Given the description of an element on the screen output the (x, y) to click on. 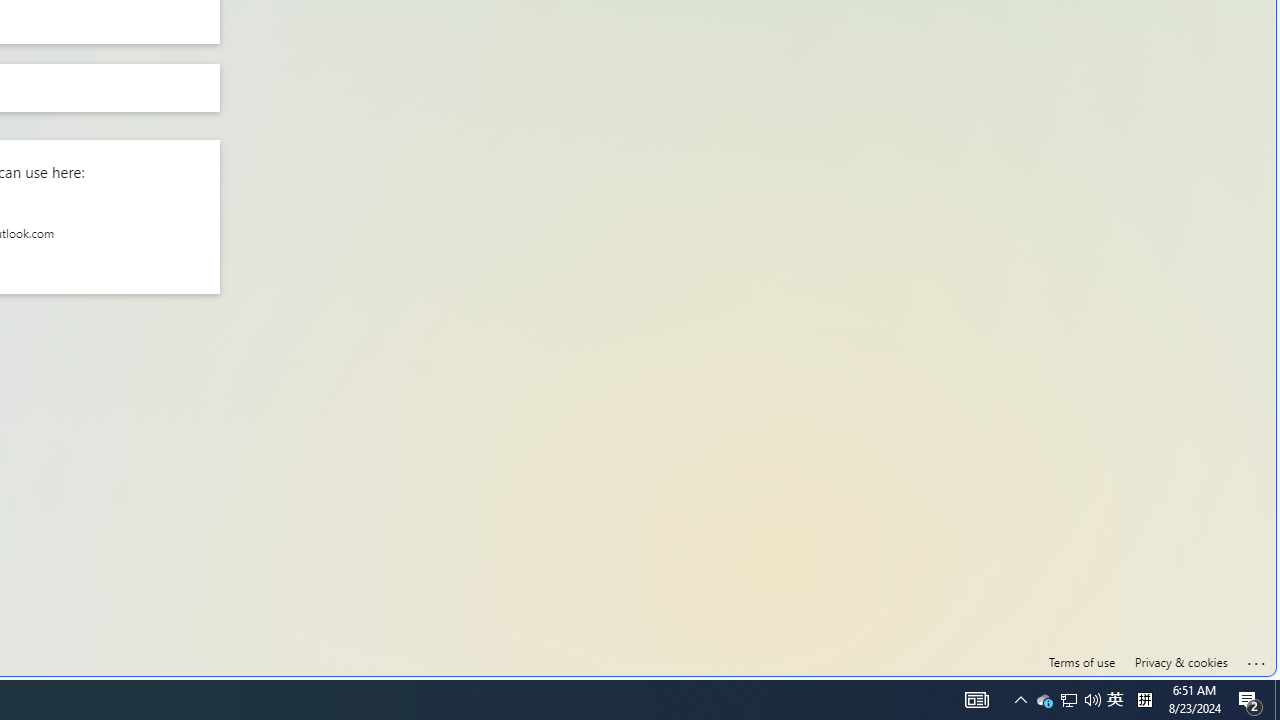
Click here for troubleshooting information (1257, 659)
Privacy & cookies (1180, 662)
